Given the description of an element on the screen output the (x, y) to click on. 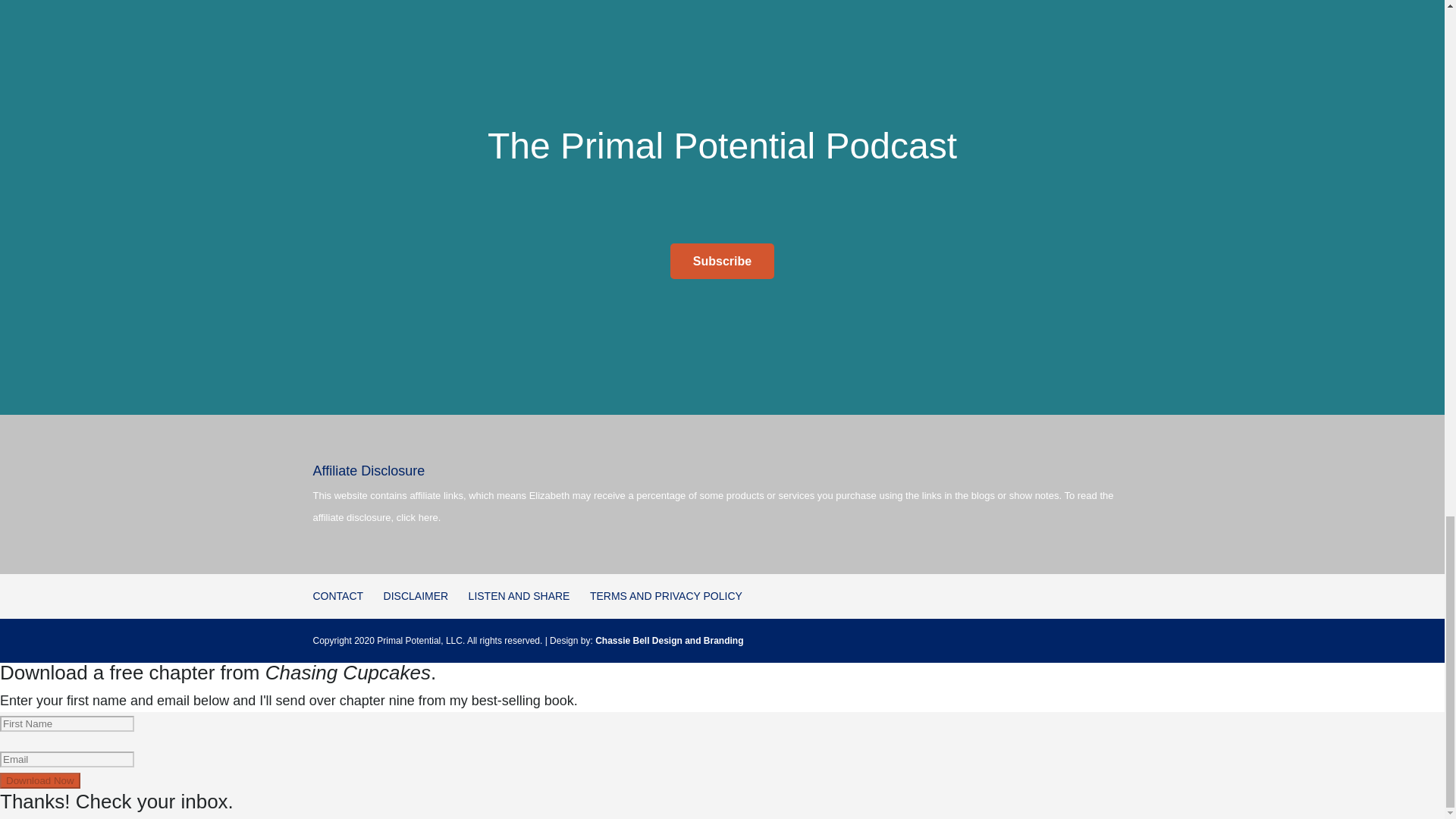
Chassie Bell Design and Branding (668, 640)
Subscribe (721, 261)
TERMS AND PRIVACY POLICY (665, 595)
CONTACT (337, 595)
Download Now (40, 780)
click here (417, 517)
DISCLAIMER (416, 595)
LISTEN AND SHARE (519, 595)
